Given the description of an element on the screen output the (x, y) to click on. 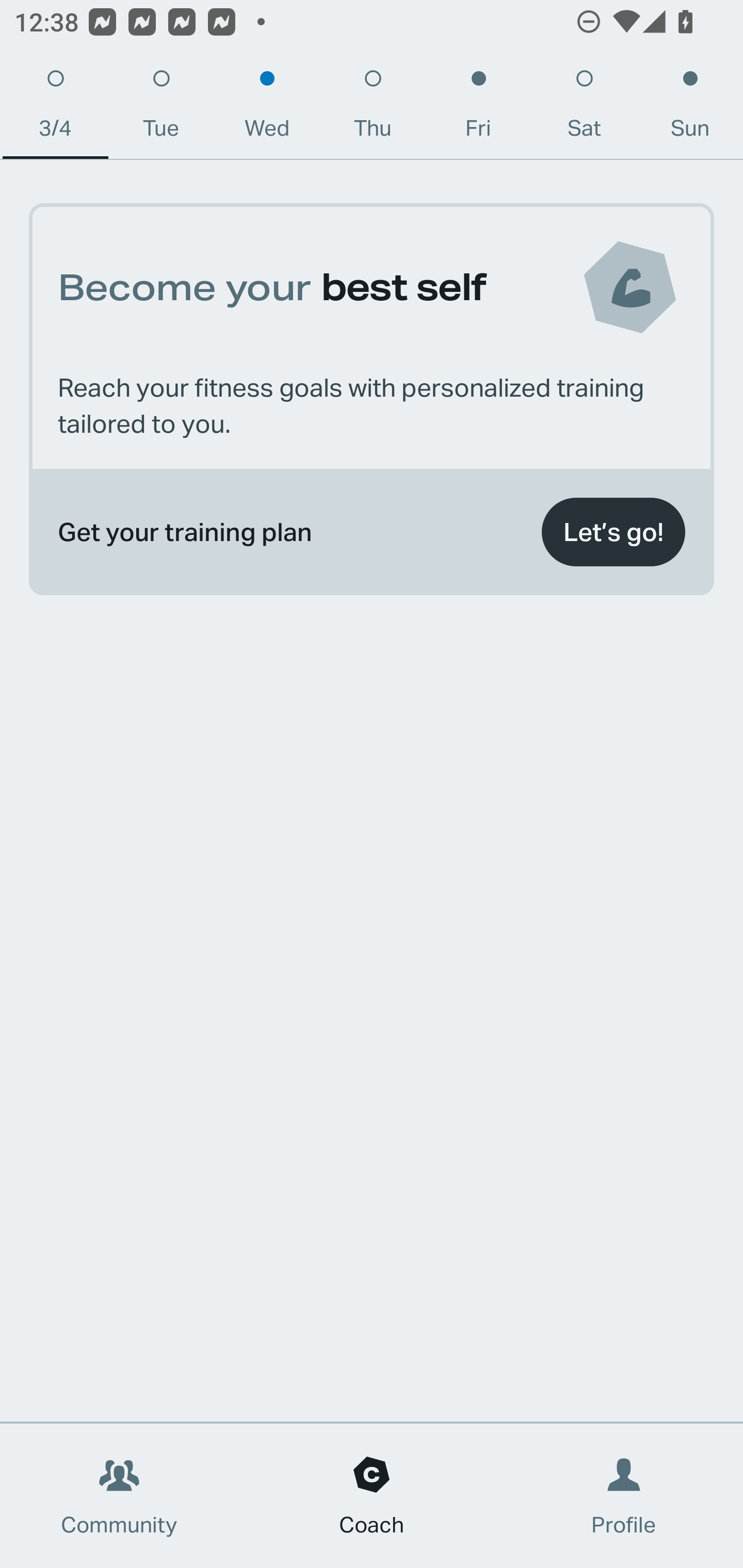
3/4 (55, 108)
Tue (160, 108)
Wed (266, 108)
Thu (372, 108)
Fri (478, 108)
Sat (584, 108)
Sun (690, 108)
Let’s go! (613, 532)
Community (119, 1495)
Profile (624, 1495)
